Given the description of an element on the screen output the (x, y) to click on. 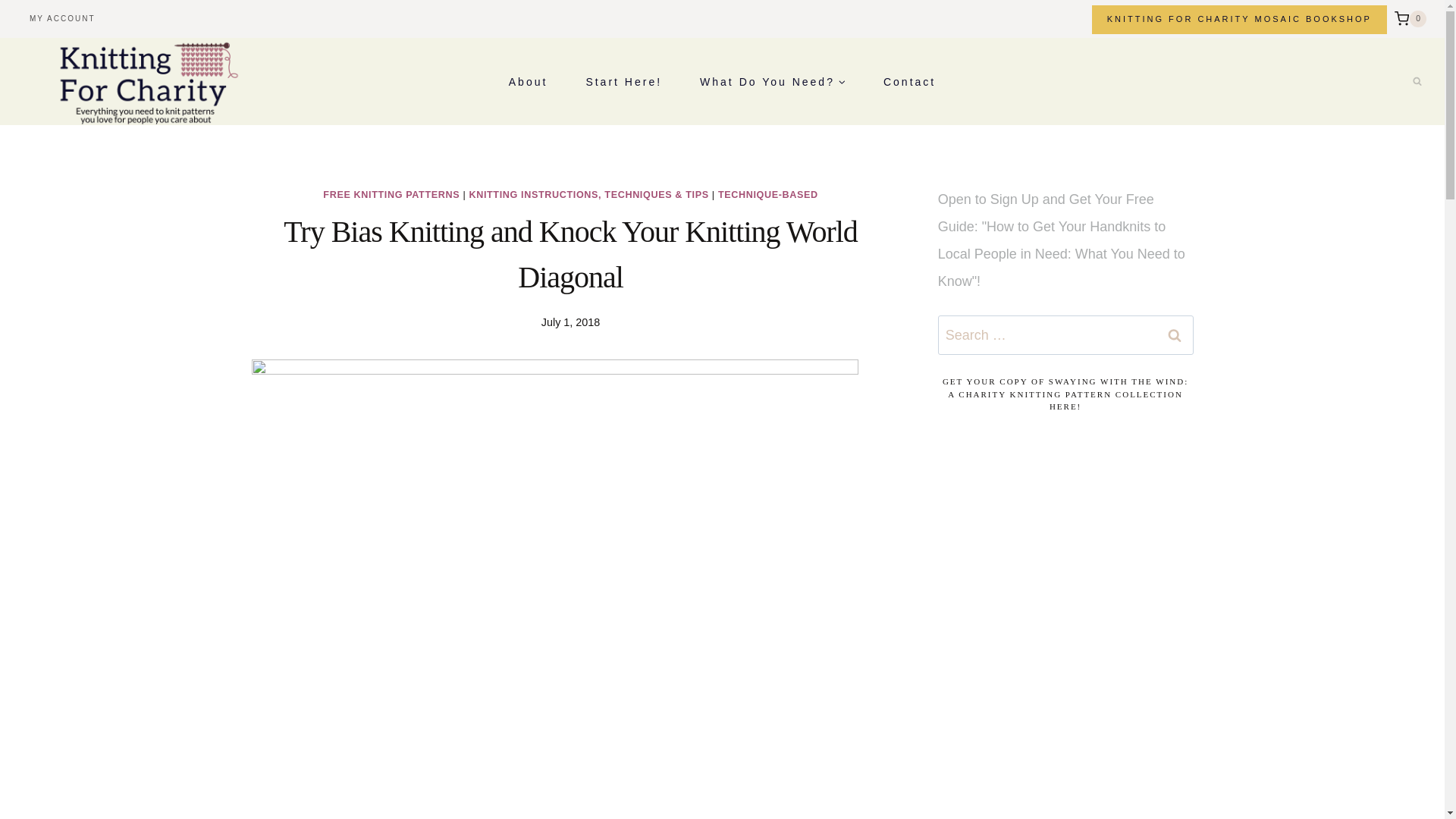
What Do You Need? (772, 81)
0 (1410, 18)
KNITTING FOR CHARITY MOSAIC BOOKSHOP (1239, 19)
Search (1174, 334)
TECHNIQUE-BASED (767, 194)
Start Here! (623, 81)
Search (1174, 334)
FREE KNITTING PATTERNS (391, 194)
Contact (909, 81)
